Given the description of an element on the screen output the (x, y) to click on. 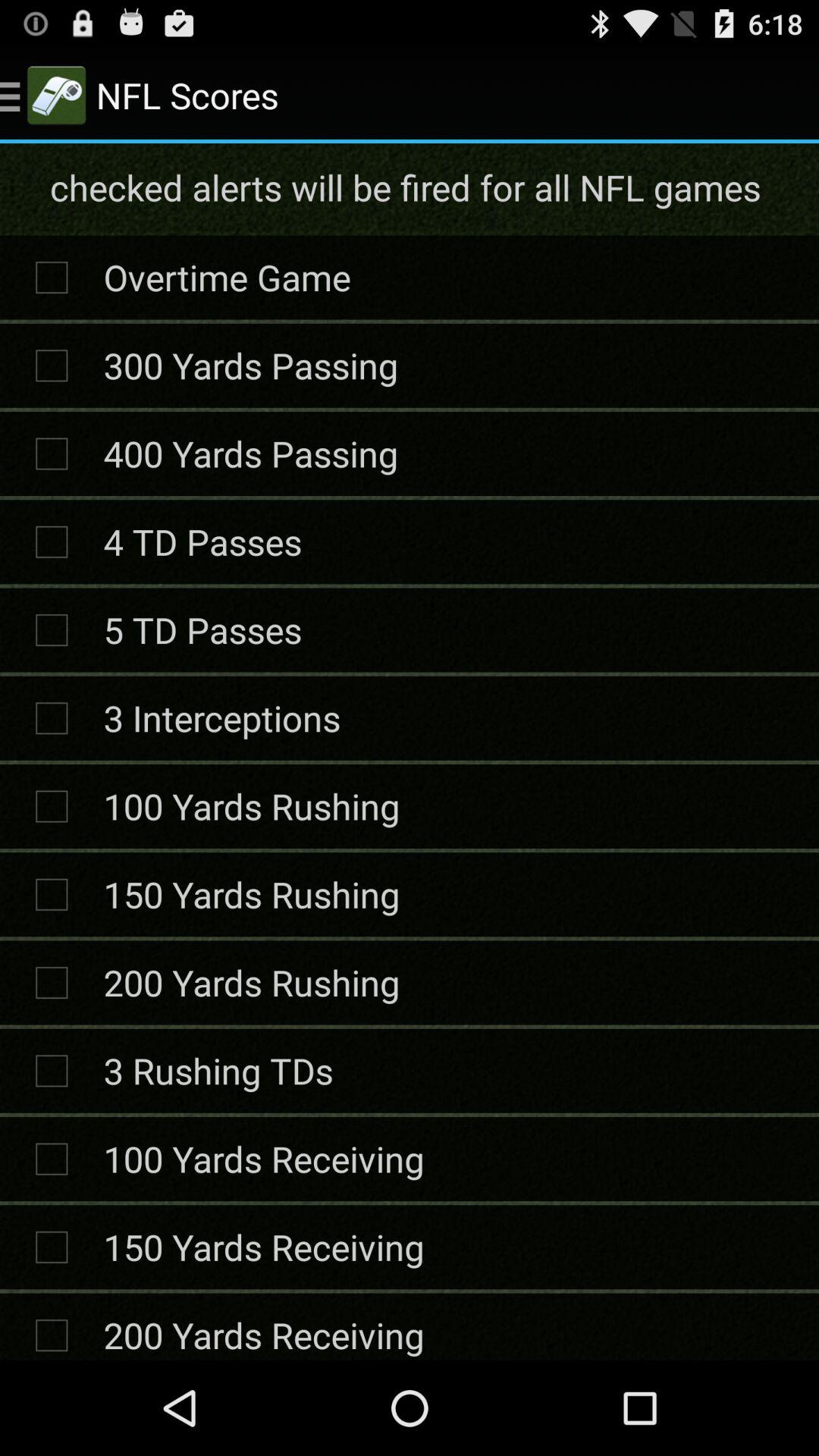
scroll to overtime game (226, 277)
